Given the description of an element on the screen output the (x, y) to click on. 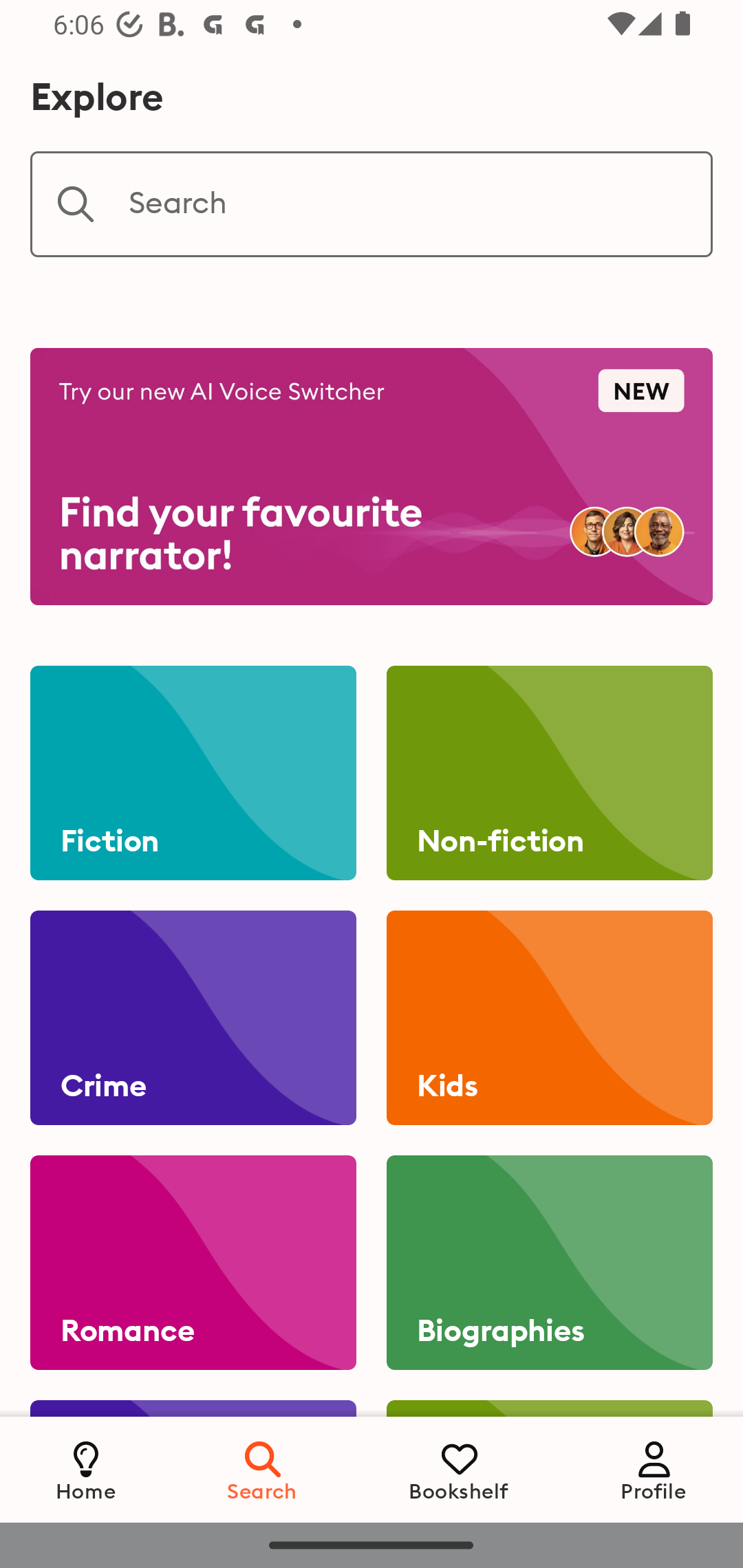
Search (371, 203)
Fiction (193, 772)
Non-fiction (549, 772)
Crime (193, 1018)
Kids (549, 1018)
Romance (193, 1262)
Biographies (549, 1262)
Home (85, 1468)
Search (262, 1468)
Bookshelf (458, 1468)
Profile (653, 1468)
